Given the description of an element on the screen output the (x, y) to click on. 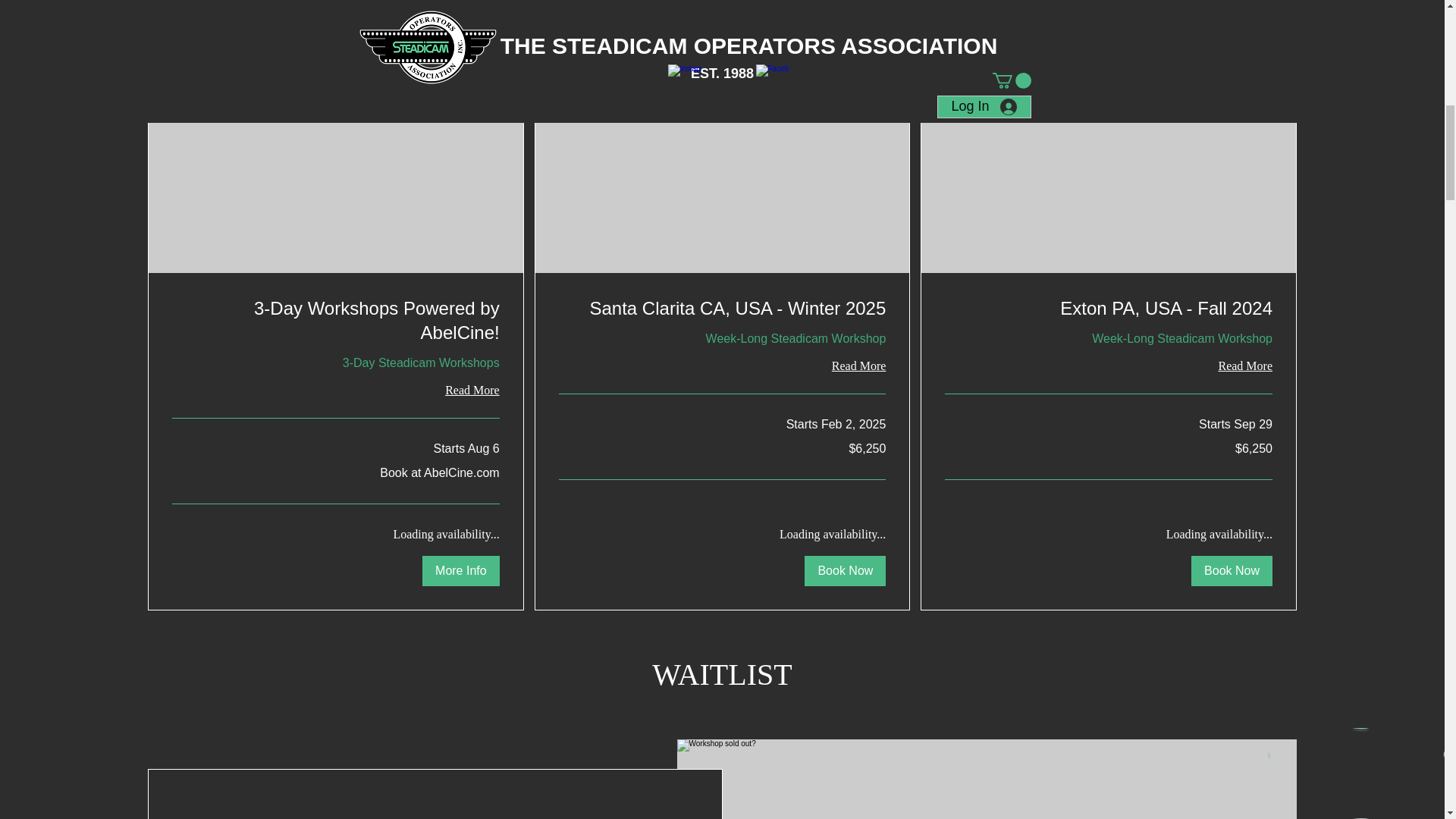
Book Now (1231, 571)
3-Day Workshops Powered by AbelCine! (335, 320)
Exton PA, USA - Fall 2024 (1108, 308)
Santa Clarita CA, USA - Winter 2025 (722, 308)
Book Now (845, 571)
Read More (722, 366)
Read More (1108, 366)
Read More (335, 390)
More Info (460, 571)
